Given the description of an element on the screen output the (x, y) to click on. 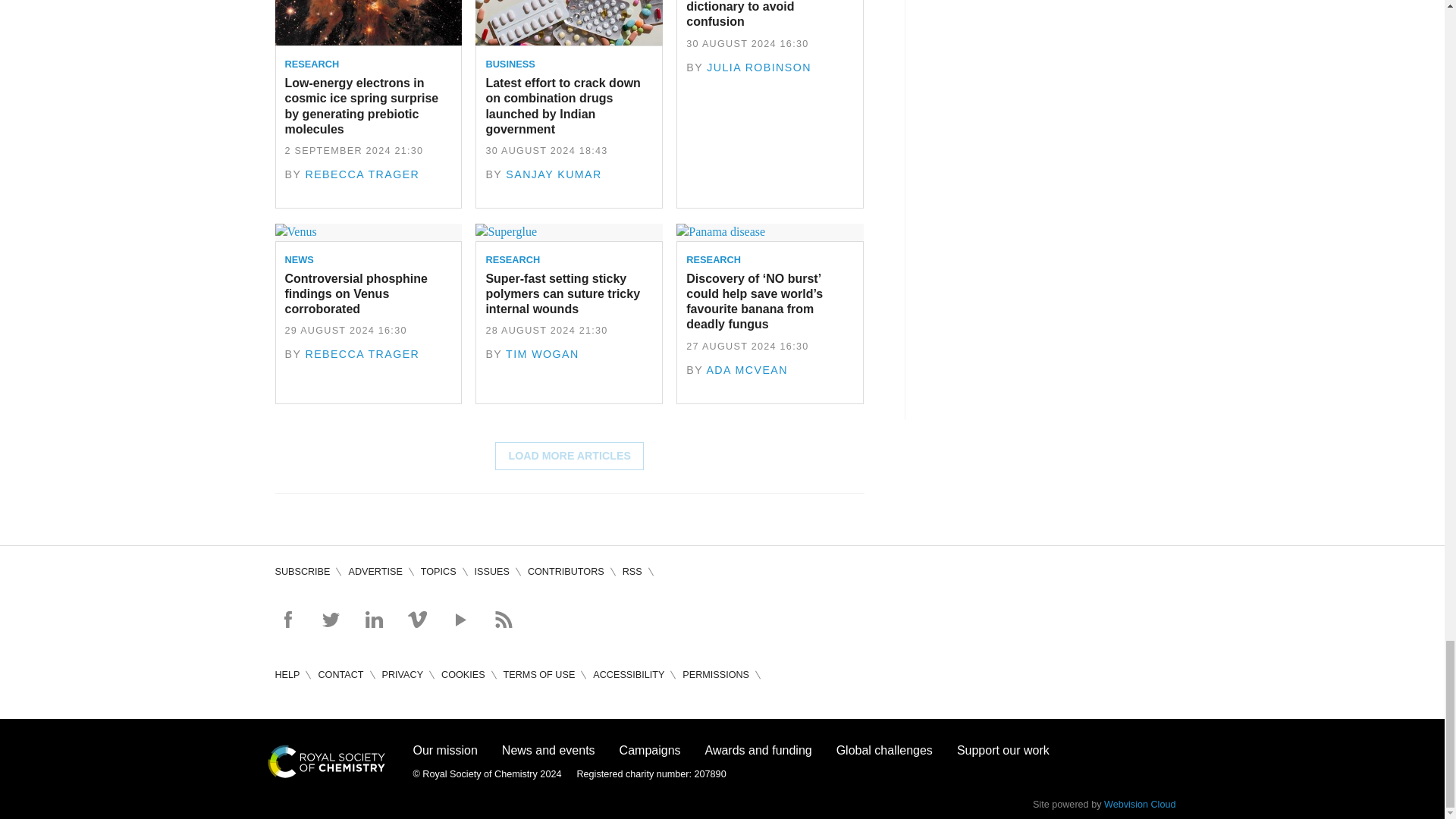
Connect on Linked in (373, 619)
Watch on Vimeo (416, 619)
Follow on Facebook (287, 619)
Follow on Twitter (330, 619)
